Given the description of an element on the screen output the (x, y) to click on. 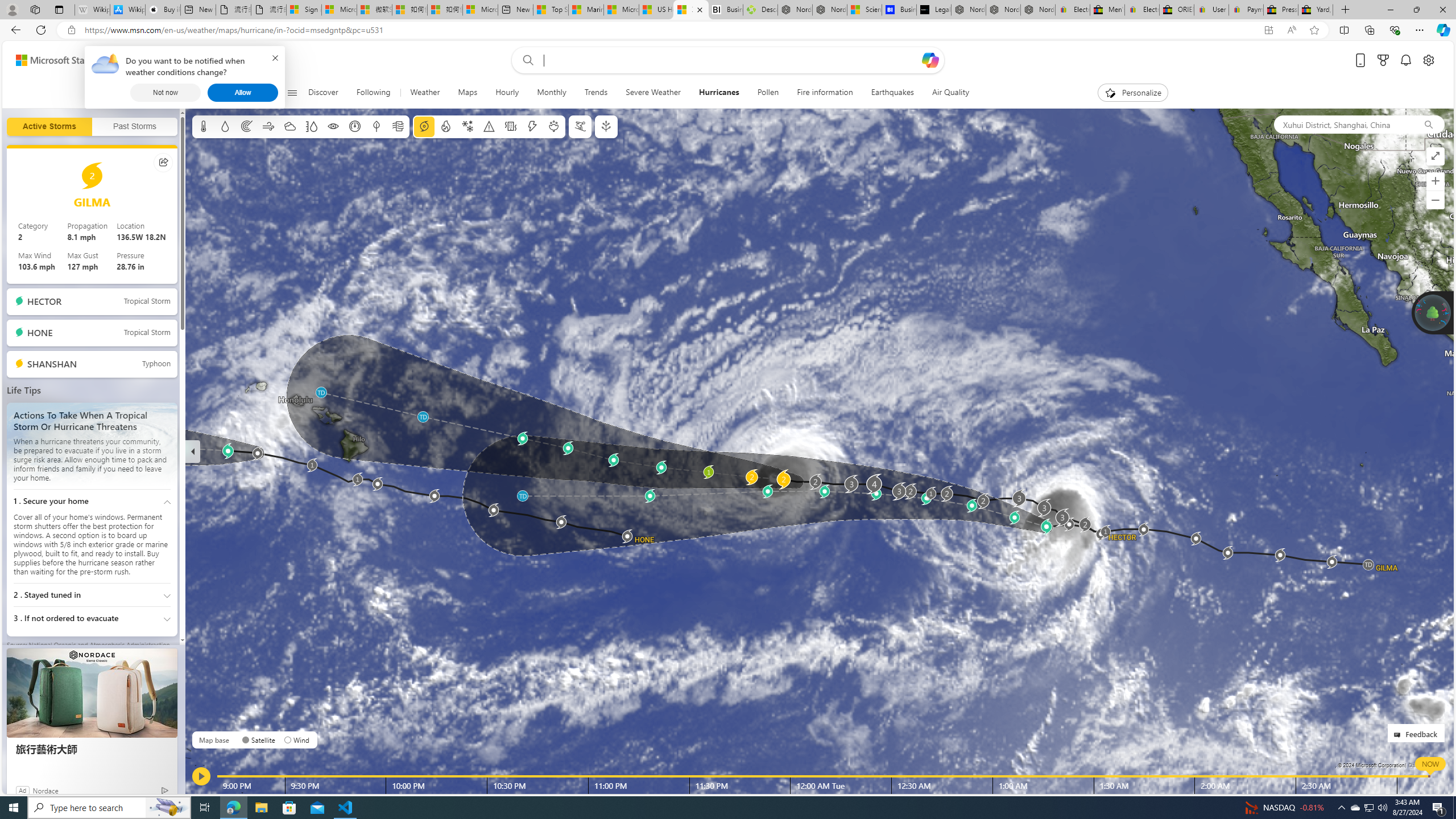
Severe weather (489, 126)
Trends (595, 92)
Zoom out (1435, 199)
Enter full screen mode (1435, 156)
Pollen (553, 126)
Ski conditions (579, 126)
Hurricane (423, 126)
share dialog (163, 162)
